Given the description of an element on the screen output the (x, y) to click on. 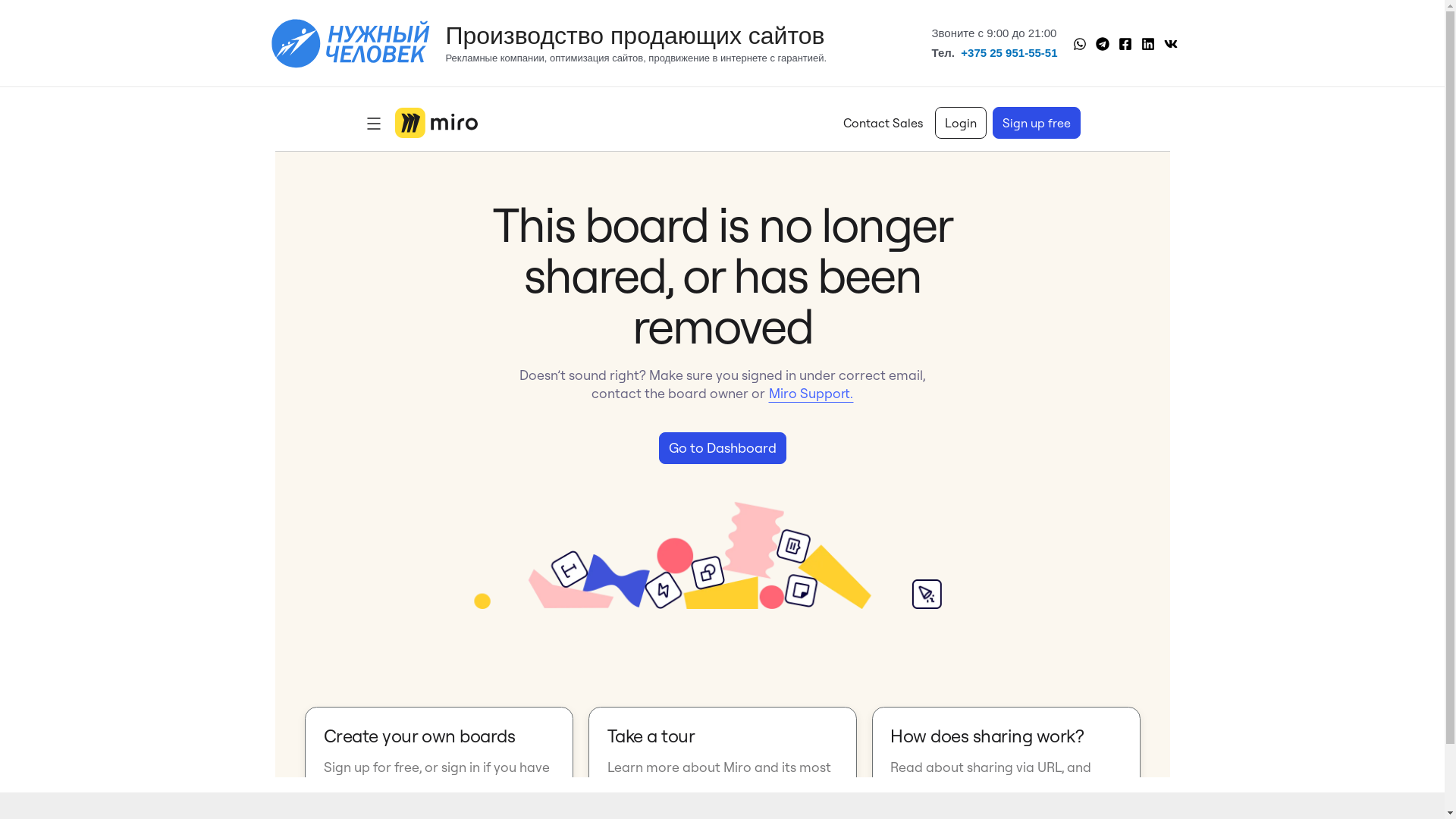
+375 25 951-55-51 Element type: text (1008, 52)
